Given the description of an element on the screen output the (x, y) to click on. 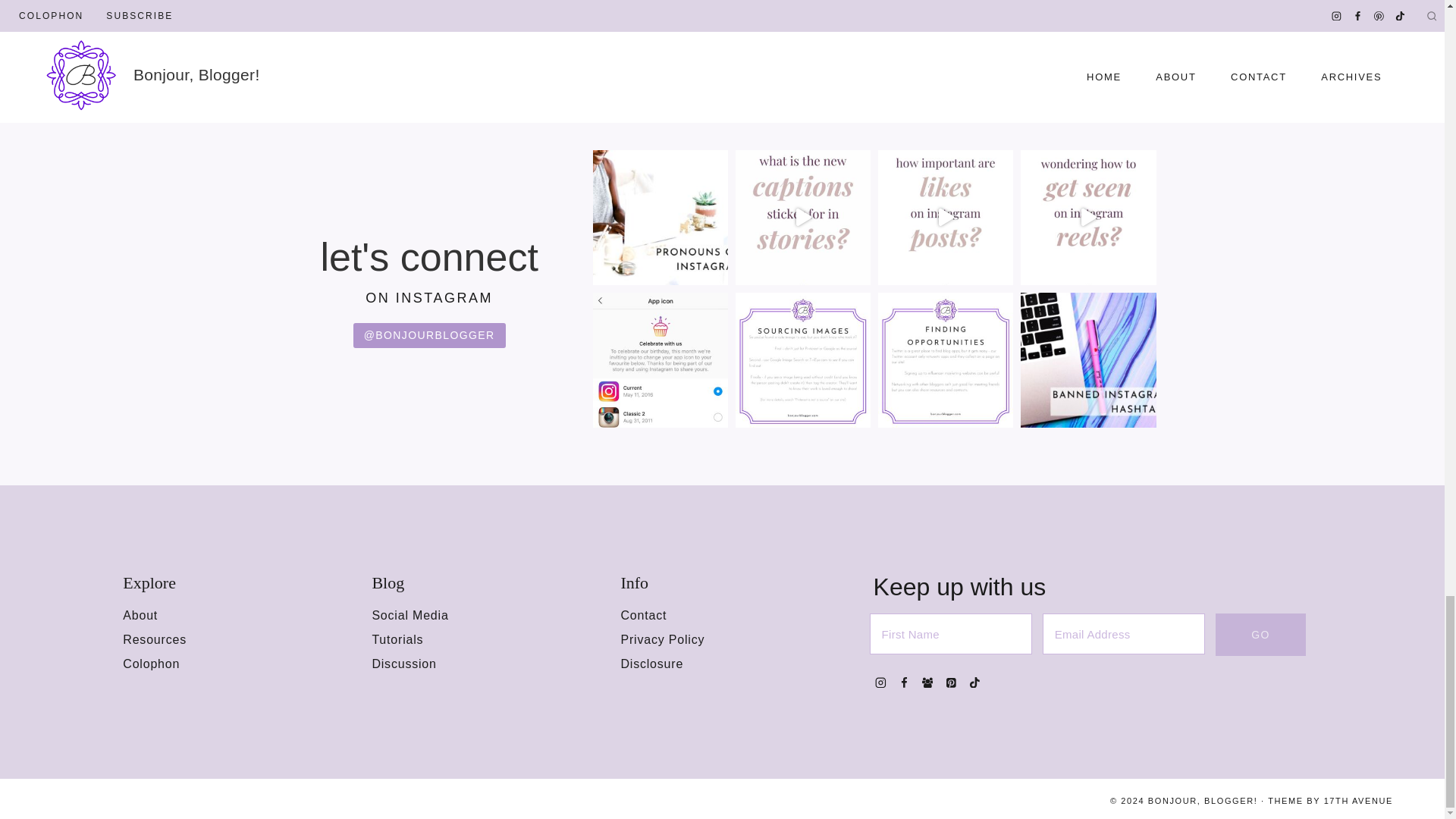
Go (1260, 634)
